Given the description of an element on the screen output the (x, y) to click on. 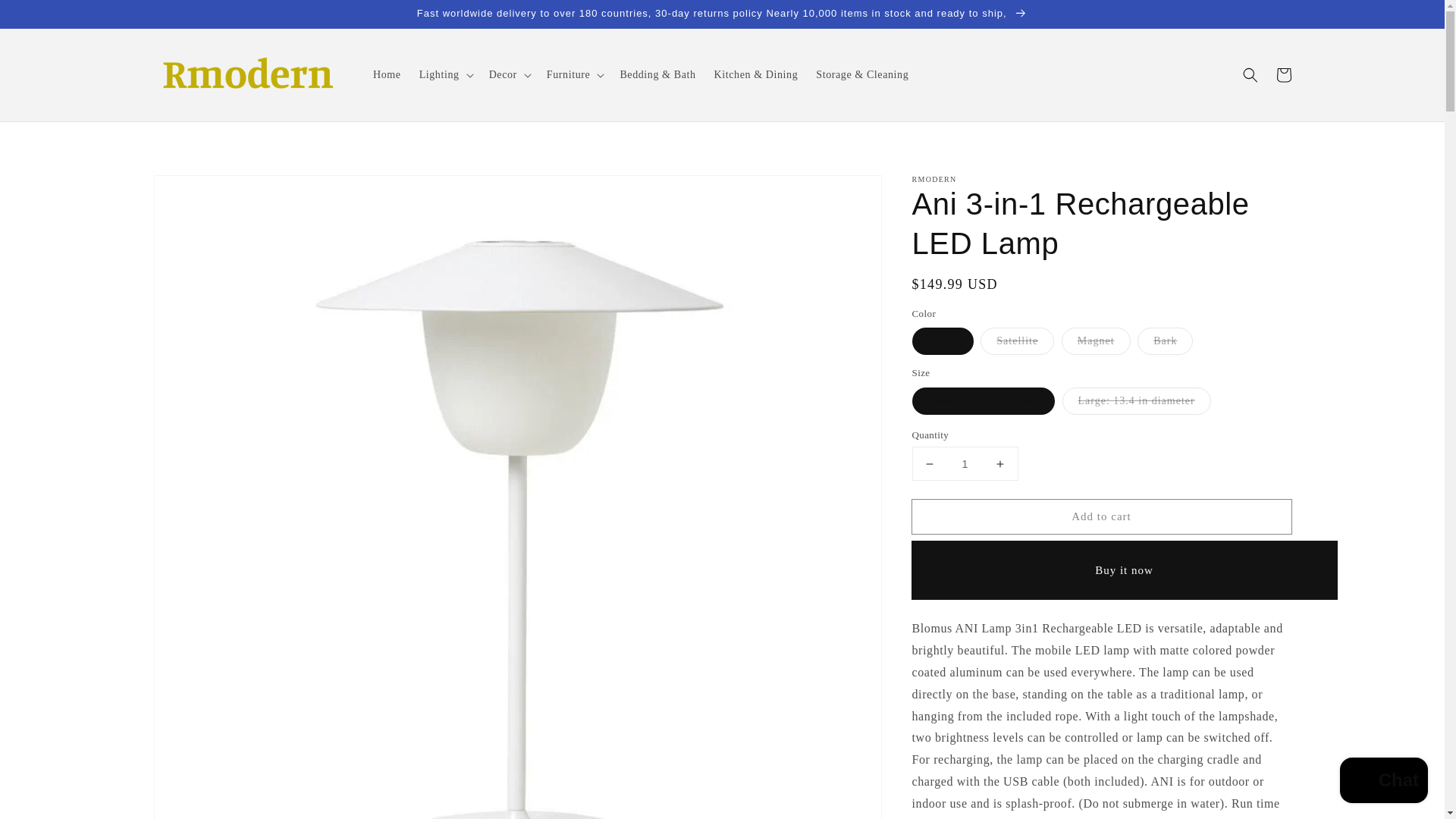
Skip to content (45, 16)
Shopify online store chat (1383, 781)
1 (964, 463)
